Given the description of an element on the screen output the (x, y) to click on. 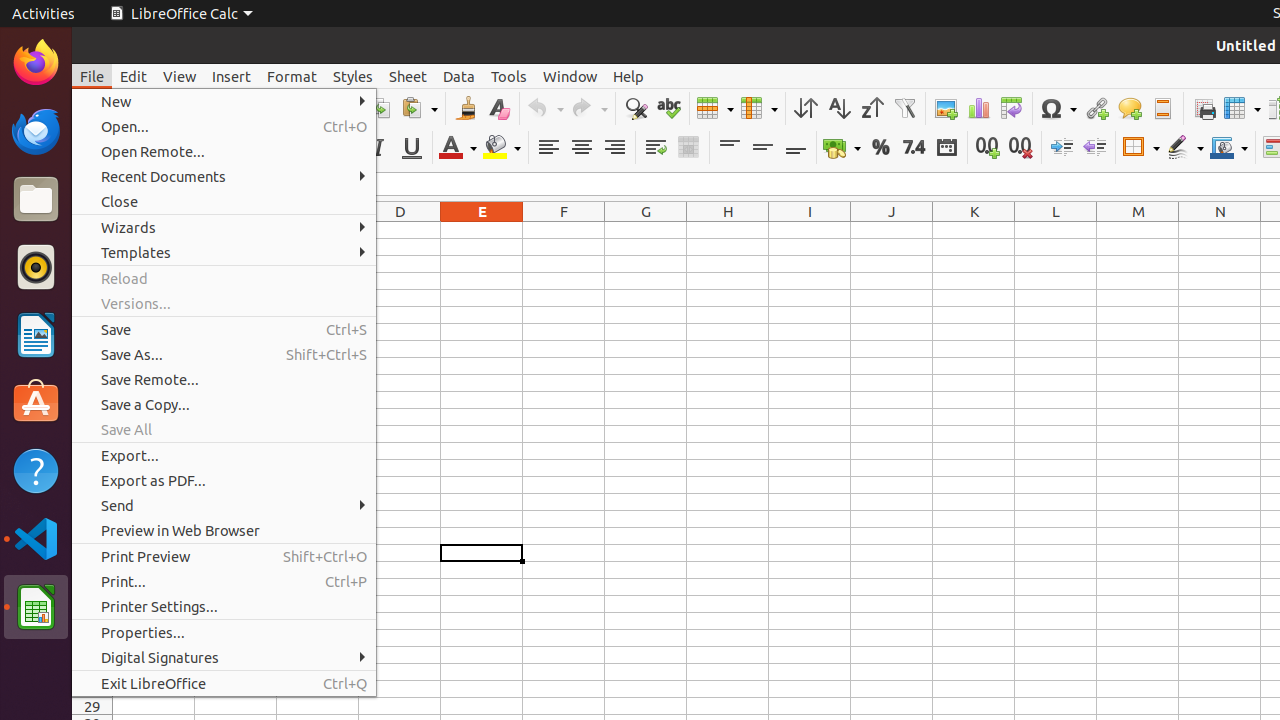
Number Element type: push-button (913, 147)
View Element type: menu (179, 76)
Clear Element type: push-button (498, 108)
Send Element type: menu (224, 505)
Add Decimal Place Element type: push-button (987, 147)
